Given the description of an element on the screen output the (x, y) to click on. 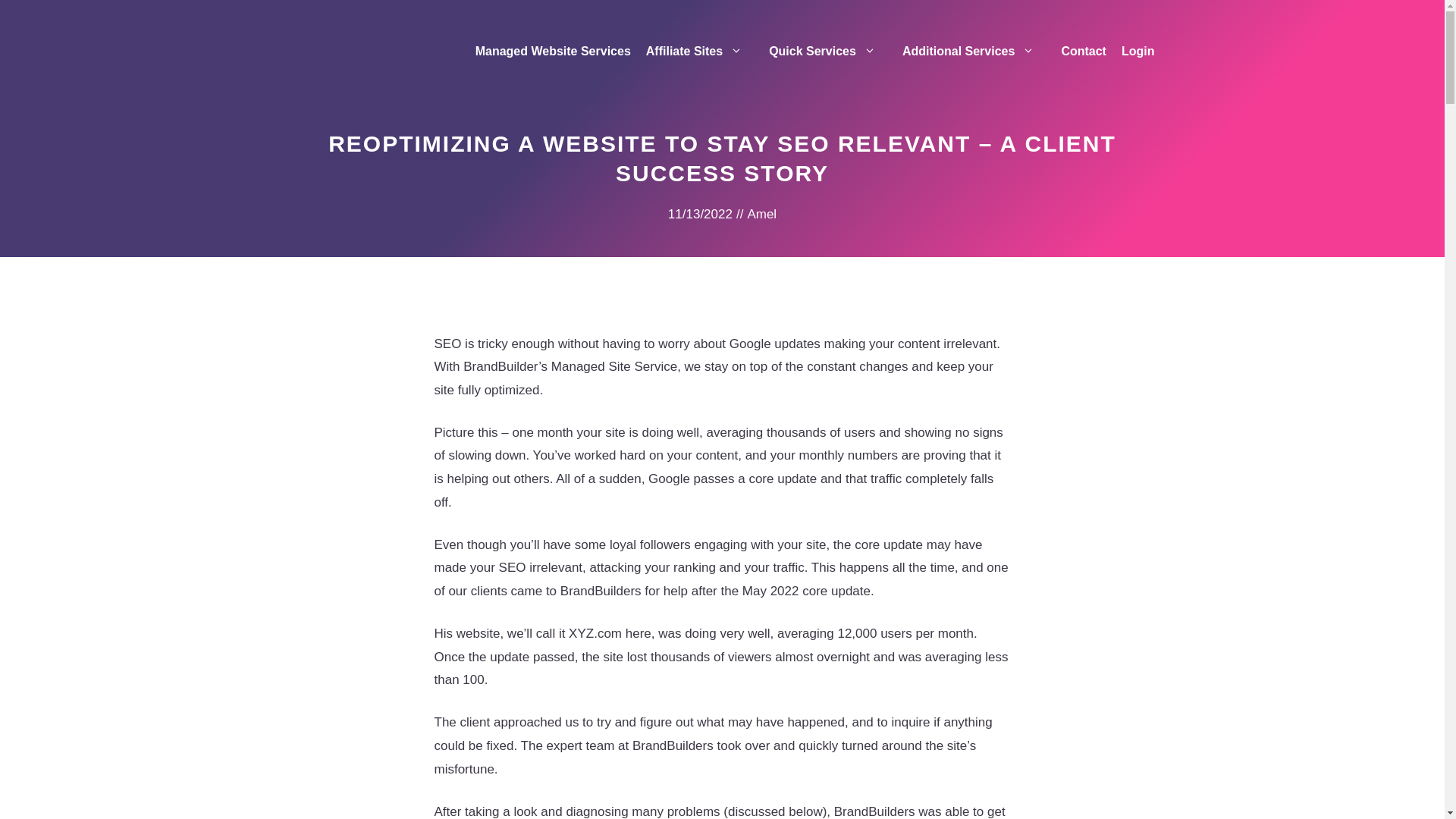
Additional Services (974, 51)
Contact (1082, 51)
Quick Services (828, 51)
Affiliate Sites (700, 51)
Login (1137, 51)
Managed Website Services (553, 51)
